Given the description of an element on the screen output the (x, y) to click on. 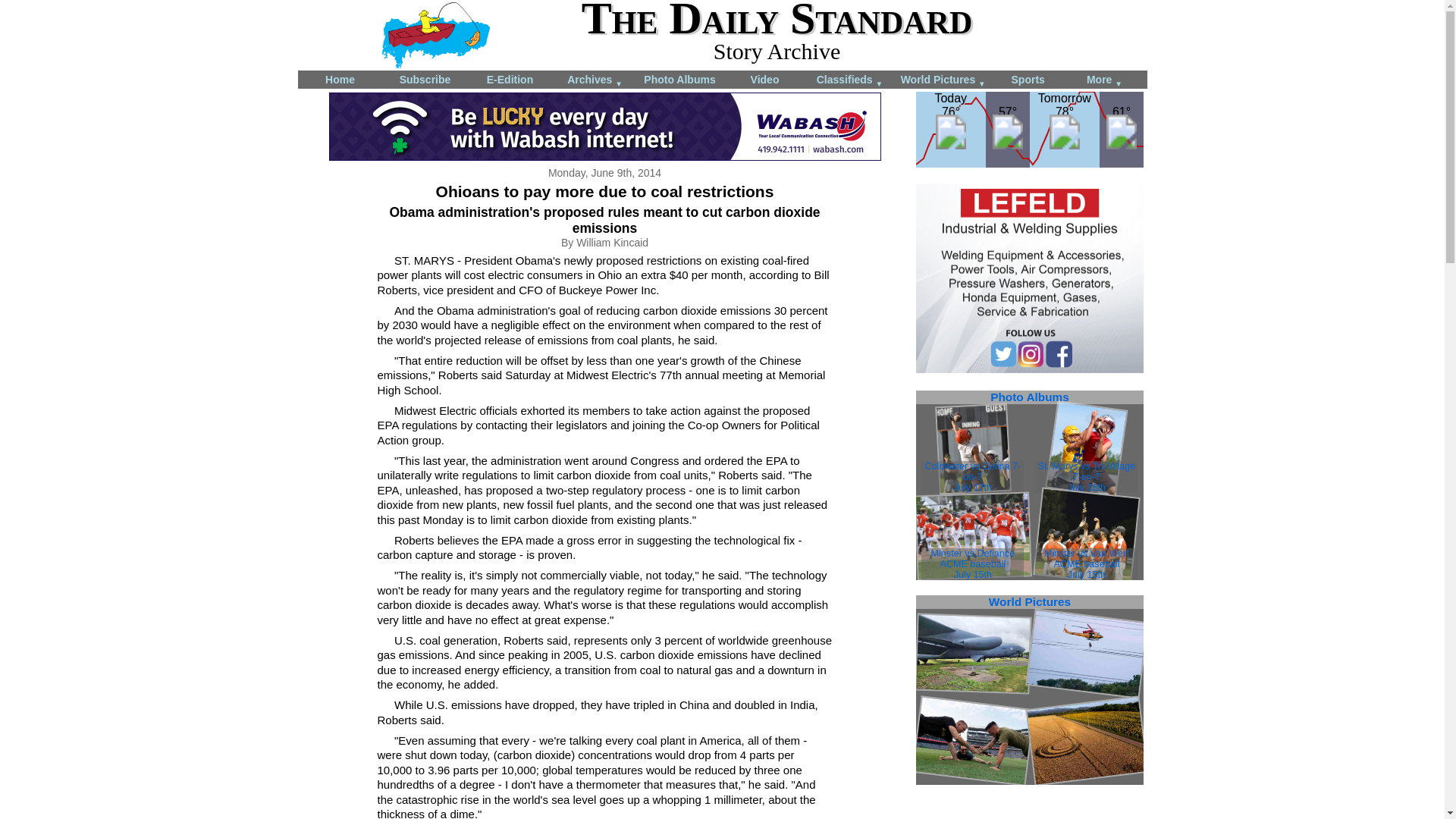
E-Edition (509, 79)
Video (764, 79)
Sports (1028, 79)
Subscribe (424, 79)
Home (339, 79)
Photo Albums (679, 79)
